Given the description of an element on the screen output the (x, y) to click on. 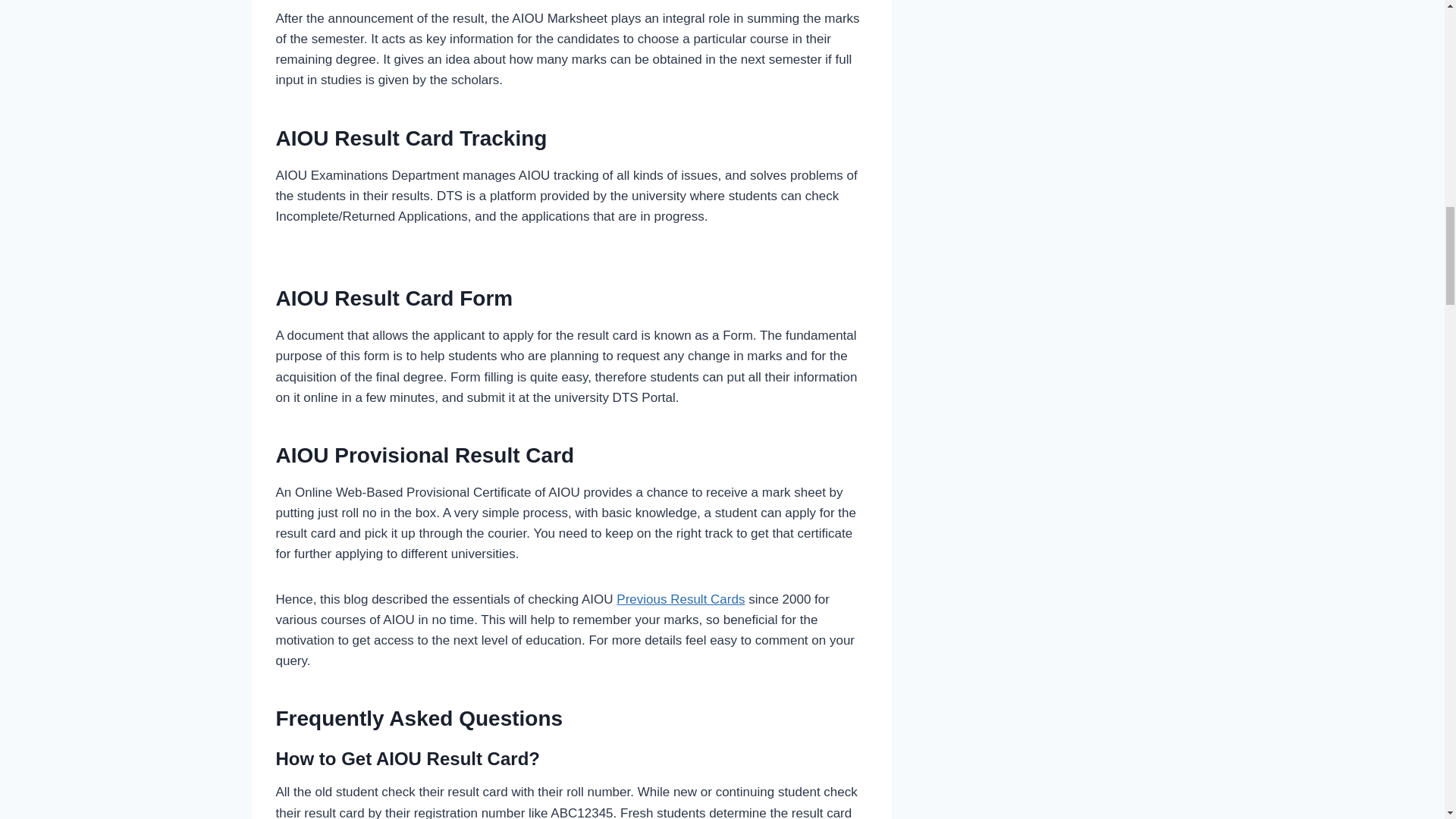
Previous Result Cards (679, 599)
